Given the description of an element on the screen output the (x, y) to click on. 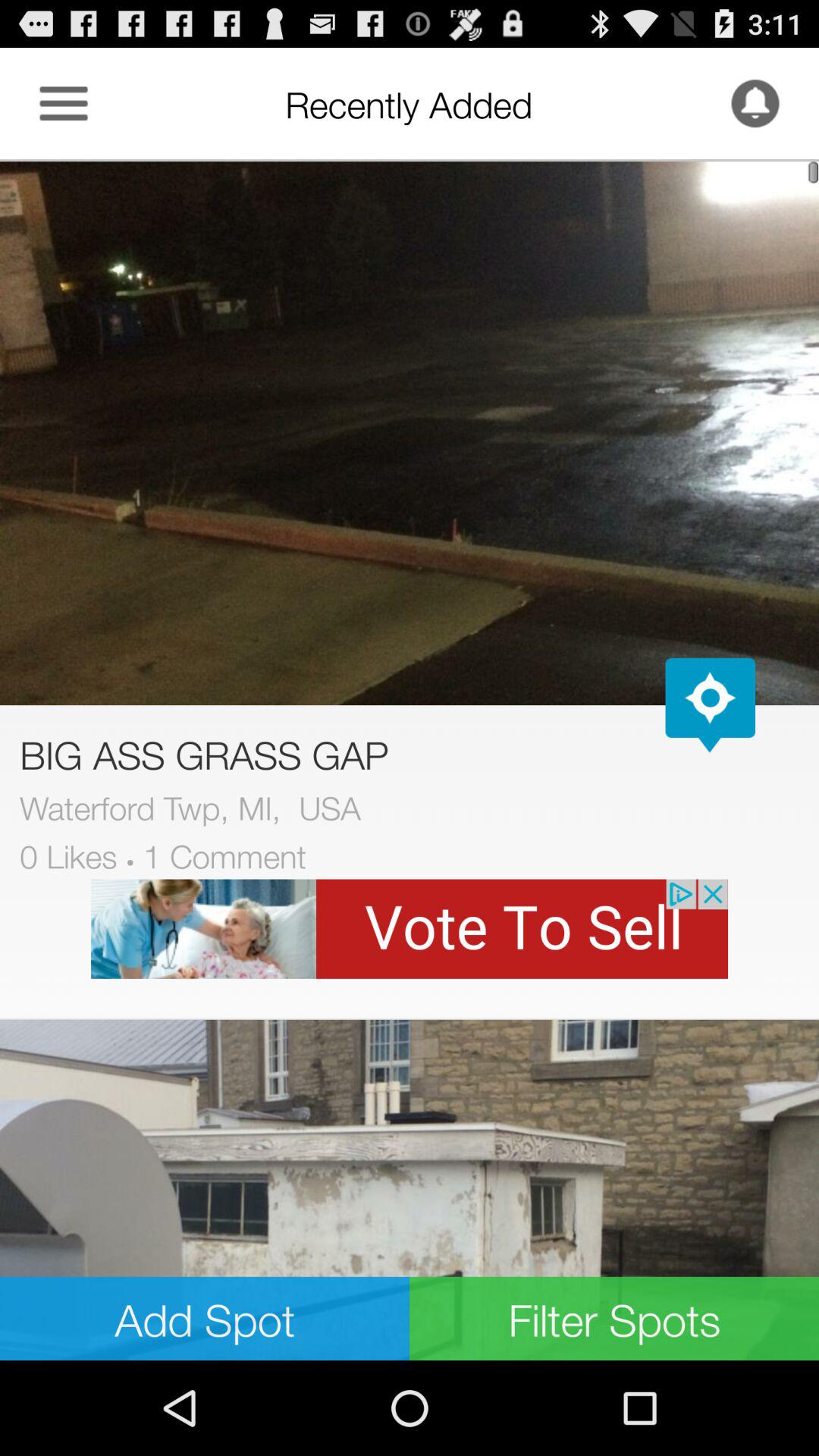
options (63, 103)
